Given the description of an element on the screen output the (x, y) to click on. 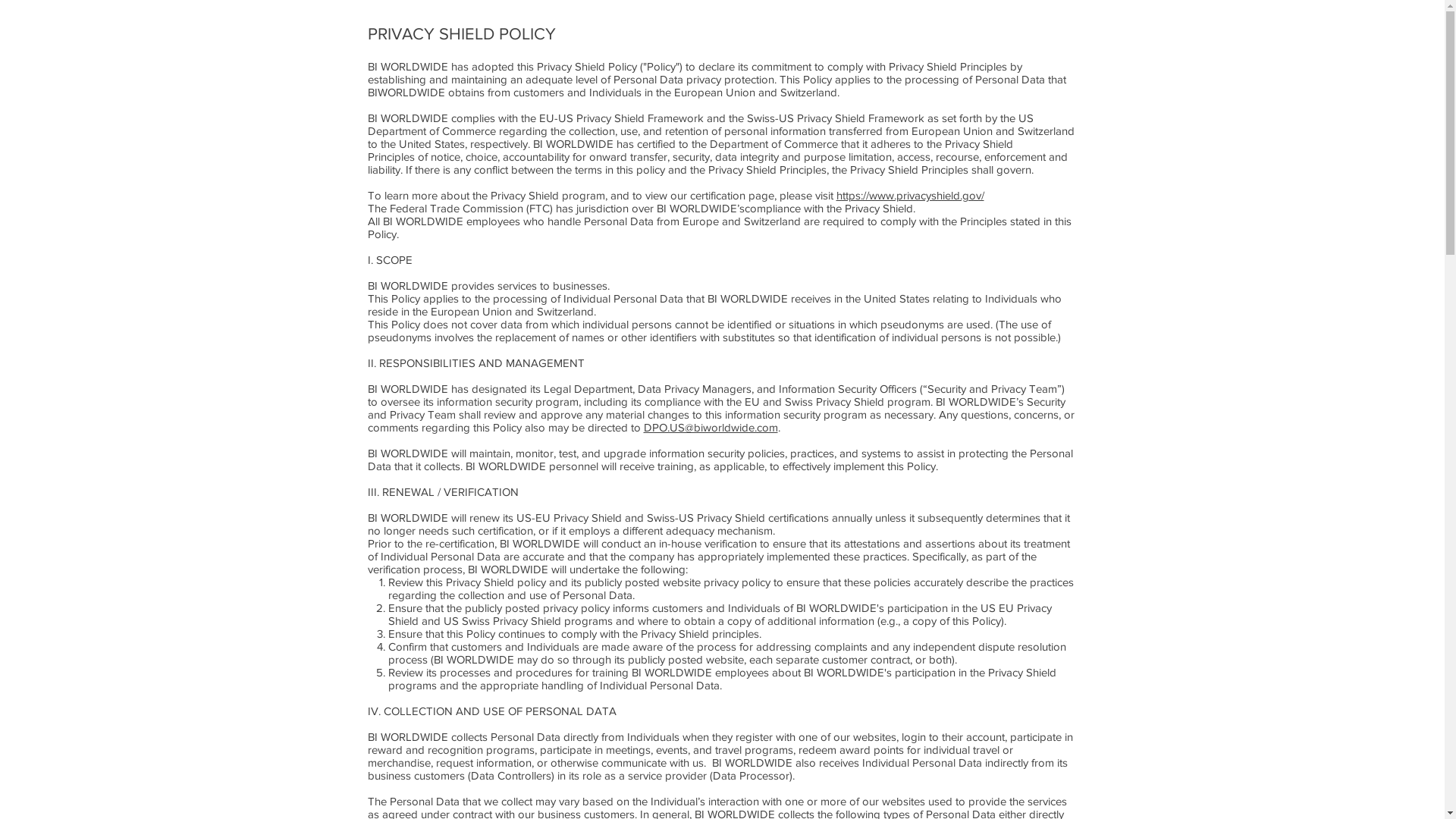
https://www.privacyshield.gov/ Element type: text (909, 194)
DPO.US@biworldwide.com Element type: text (710, 426)
